Given the description of an element on the screen output the (x, y) to click on. 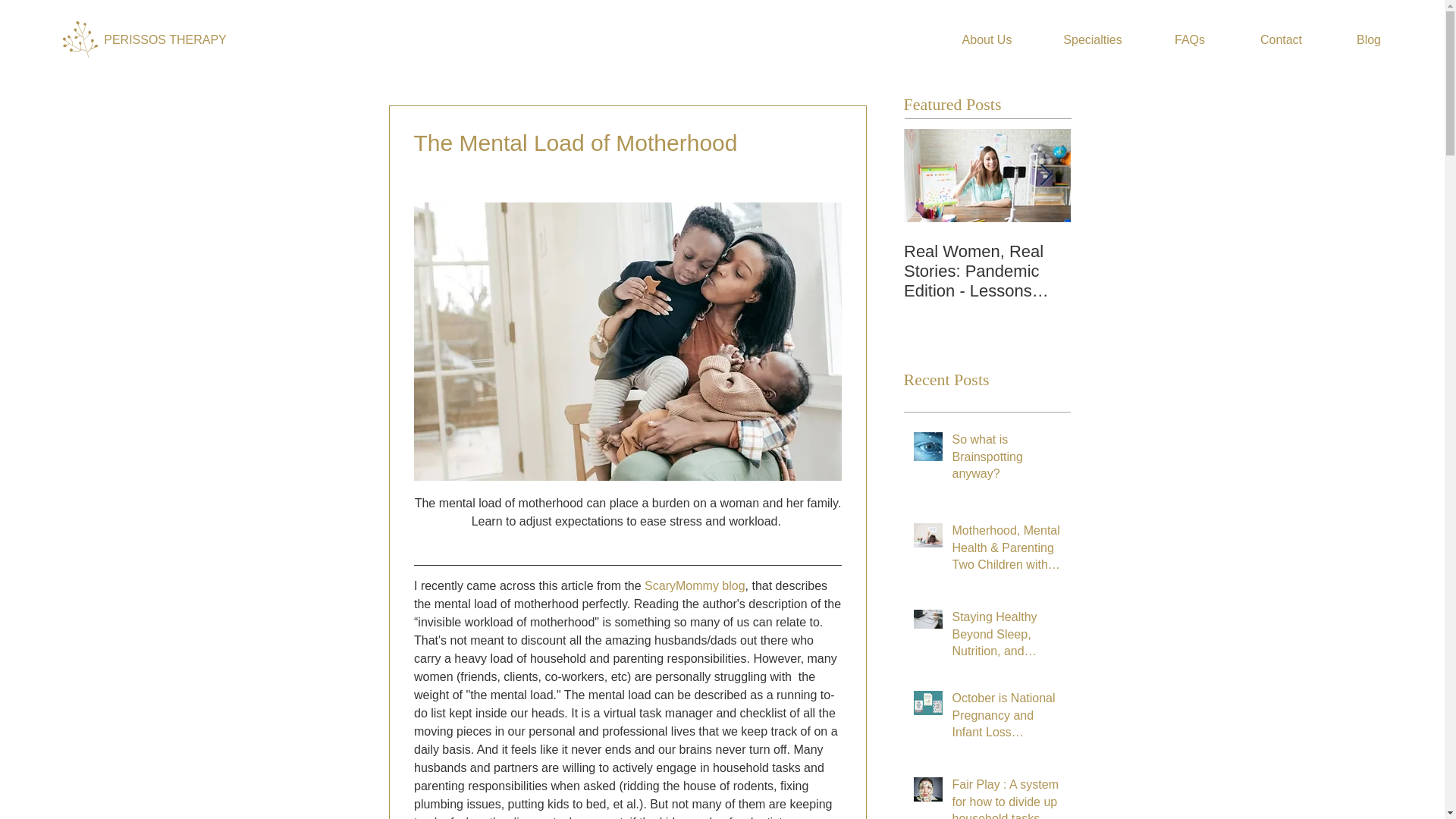
Hindsight is 2020: Reviewing the Global Pandemic Year (1153, 271)
Specialties (1093, 39)
FAQs (1190, 39)
PERISSOS THERAPY (165, 39)
Blog (1368, 39)
About Us (986, 39)
Contact (1281, 39)
Staying Healthy Beyond Sleep, Nutrition, and Exercise (1006, 637)
ScaryMommy blog (694, 585)
So what is Brainspotting anyway? (1006, 459)
